Given the description of an element on the screen output the (x, y) to click on. 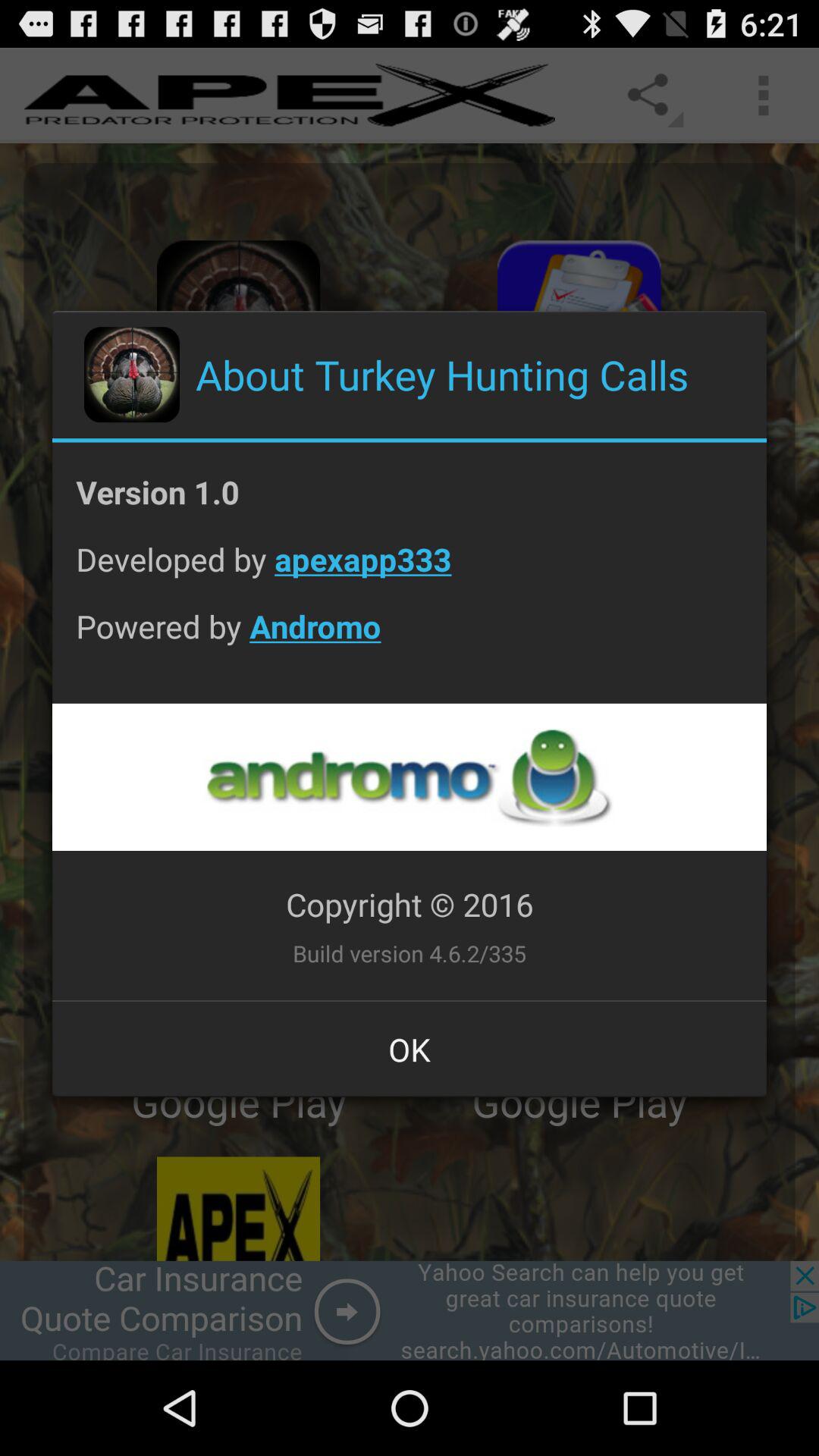
press the item below build version 4 item (409, 1049)
